Given the description of an element on the screen output the (x, y) to click on. 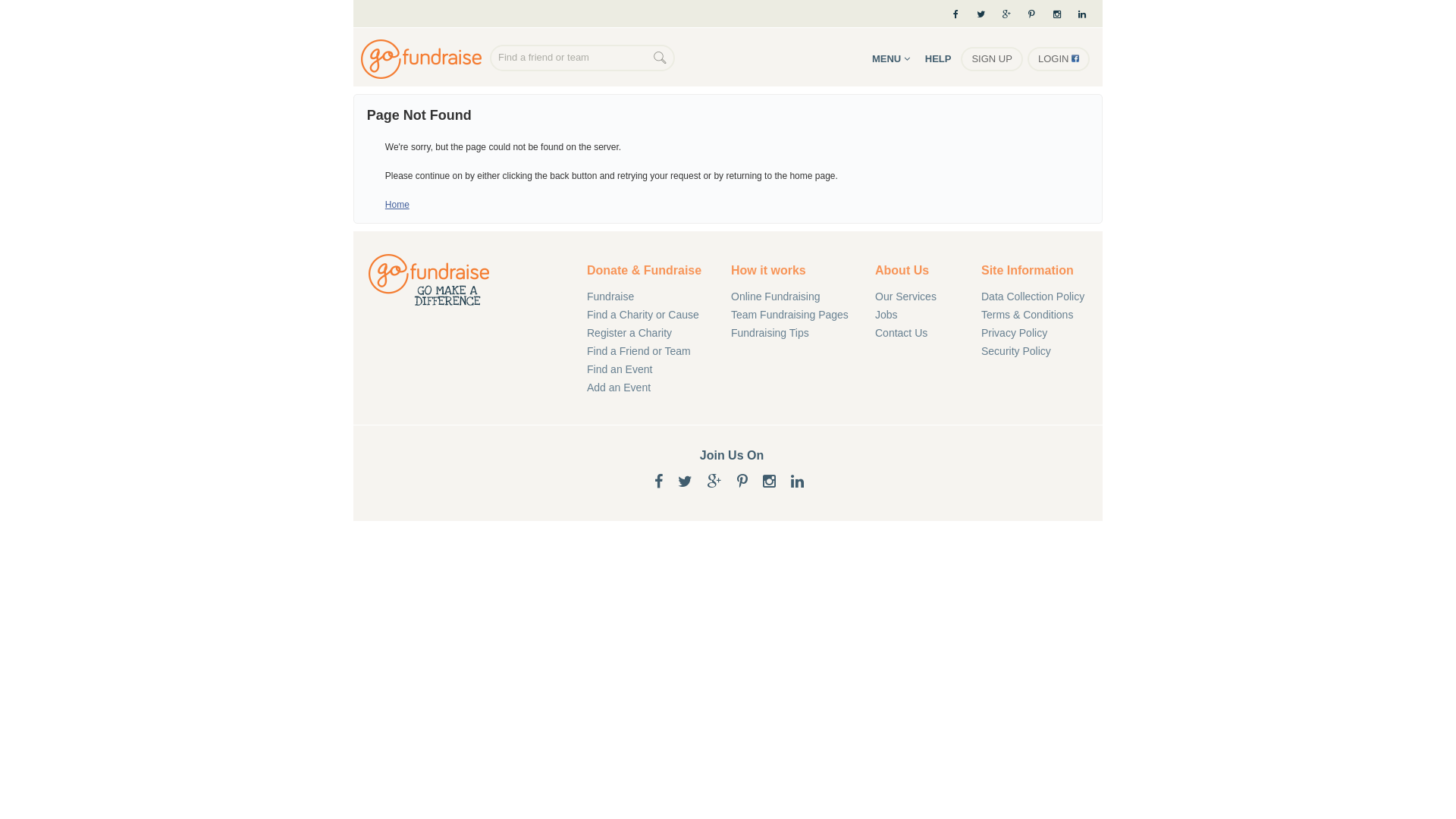
Jobs Element type: text (916, 314)
Find an Event Element type: text (647, 369)
Team Fundraising Pages Element type: text (791, 314)
Google+ Element type: hover (714, 481)
Pinterest Element type: hover (1031, 14)
Data Collection Policy Element type: text (1041, 296)
Twitter Element type: hover (980, 14)
MENU Element type: text (891, 58)
Add an Event Element type: text (647, 387)
Fundraise Element type: text (647, 296)
Find a friend or team Element type: hover (571, 57)
LinkedIn Element type: hover (1087, 14)
Our Services Element type: text (916, 296)
Online Fundraising Element type: text (791, 296)
Instagram Element type: hover (768, 481)
Twitter Element type: hover (684, 481)
Fundraising Tips Element type: text (791, 332)
Register a Charity Element type: text (647, 332)
Security Policy Element type: text (1041, 351)
Contact Us Element type: text (916, 332)
Find a Charity or Cause Element type: text (647, 314)
HELP Element type: text (938, 58)
Facebook Element type: hover (658, 481)
LinkedIn Element type: hover (796, 481)
Home Element type: text (397, 204)
Facebook Element type: hover (955, 14)
Pinterest Element type: hover (742, 481)
Privacy Policy Element type: text (1041, 332)
Online Fundraising Element type: text (424, 58)
Find a Friend or Team Element type: text (647, 351)
Google+ Element type: hover (1006, 14)
Terms & Conditions Element type: text (1041, 314)
Instagram Element type: hover (1056, 14)
